Given the description of an element on the screen output the (x, y) to click on. 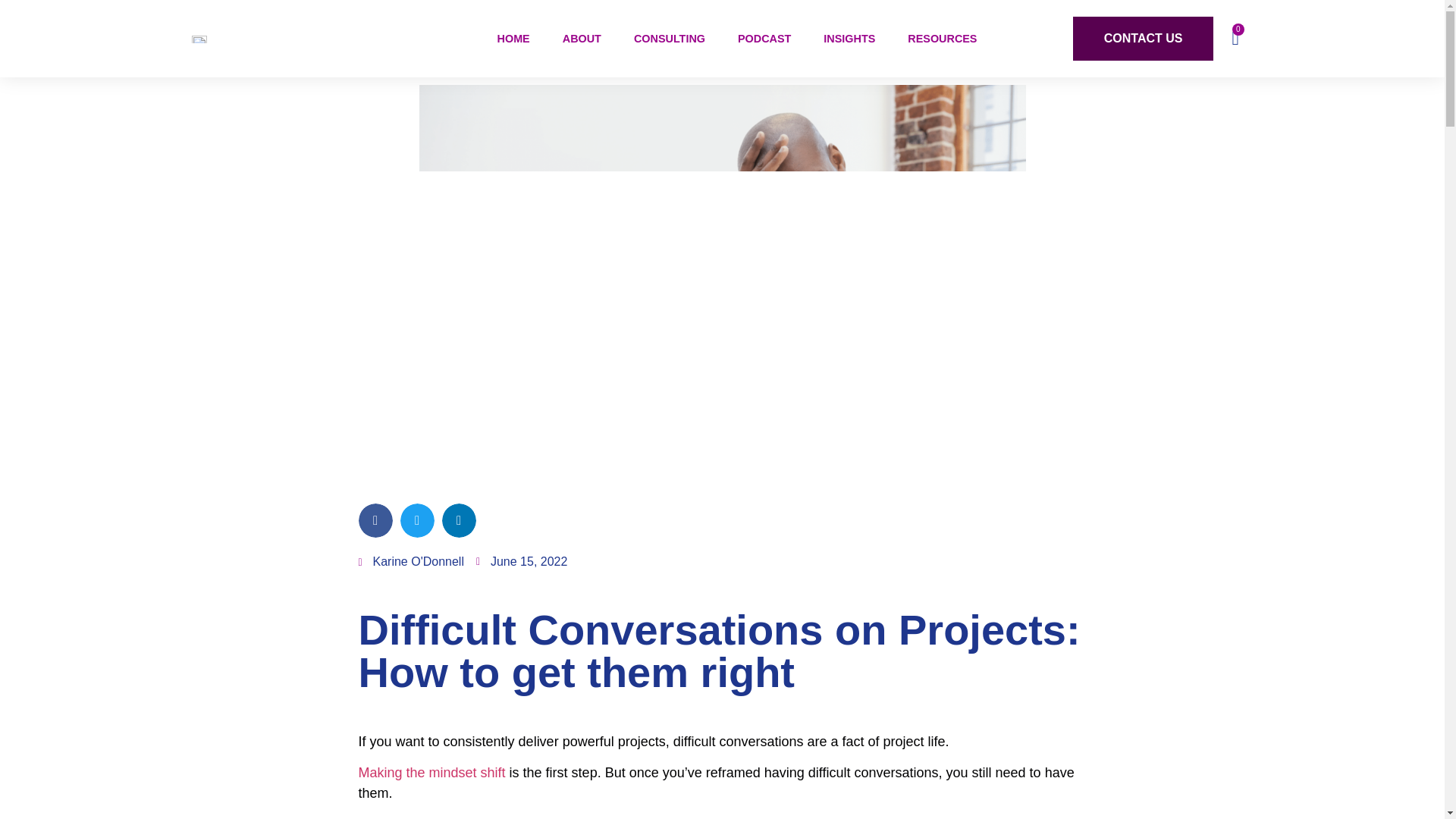
CONSULTING (668, 38)
RESOURCES (941, 38)
ABOUT (581, 38)
0 (1234, 38)
CONTACT US (1143, 38)
HOME (513, 38)
PODCAST (764, 38)
INSIGHTS (849, 38)
